Given the description of an element on the screen output the (x, y) to click on. 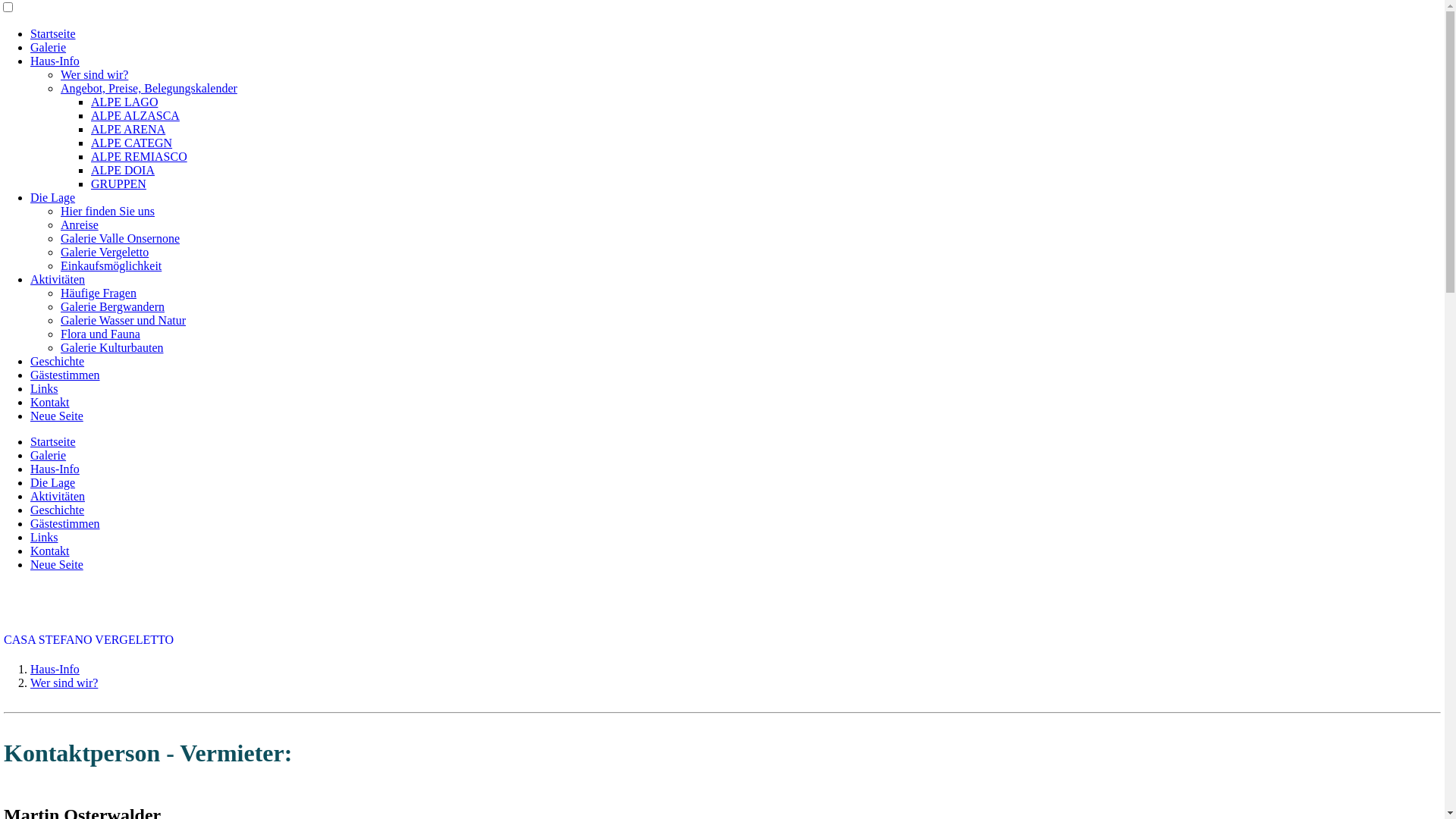
ALPE LAGO Element type: text (124, 101)
Galerie Valle Onsernone Element type: text (119, 238)
Galerie Bergwandern Element type: text (112, 306)
Angebot, Preise, Belegungskalender Element type: text (148, 87)
Die Lage Element type: text (52, 197)
Die Lage Element type: text (52, 482)
Kontakt Element type: text (49, 550)
Galerie Wasser und Natur Element type: text (122, 319)
ALPE ARENA Element type: text (128, 128)
Galerie Element type: text (47, 454)
Links Element type: text (43, 536)
Galerie Element type: text (47, 46)
Neue Seite Element type: text (56, 415)
Galerie Vergeletto Element type: text (104, 251)
Flora und Fauna Element type: text (100, 333)
Startseite Element type: text (52, 441)
Startseite Element type: text (52, 33)
ALPE REMIASCO Element type: text (139, 156)
ALPE ALZASCA Element type: text (135, 115)
Haus-Info Element type: text (54, 468)
Links Element type: text (43, 388)
Wer sind wir? Element type: text (94, 74)
CASA STEFANO VERGELETTO Element type: text (88, 639)
Geschichte Element type: text (57, 509)
Hier finden Sie uns Element type: text (107, 210)
ALPE CATEGN Element type: text (131, 142)
Kontakt Element type: text (49, 401)
GRUPPEN Element type: text (118, 183)
Neue Seite Element type: text (56, 564)
Wer sind wir? Element type: text (63, 682)
Geschichte Element type: text (57, 360)
Haus-Info Element type: text (54, 668)
Anreise Element type: text (79, 224)
Galerie Kulturbauten Element type: text (111, 347)
Haus-Info Element type: text (54, 60)
ALPE DOIA Element type: text (122, 169)
